Given the description of an element on the screen output the (x, y) to click on. 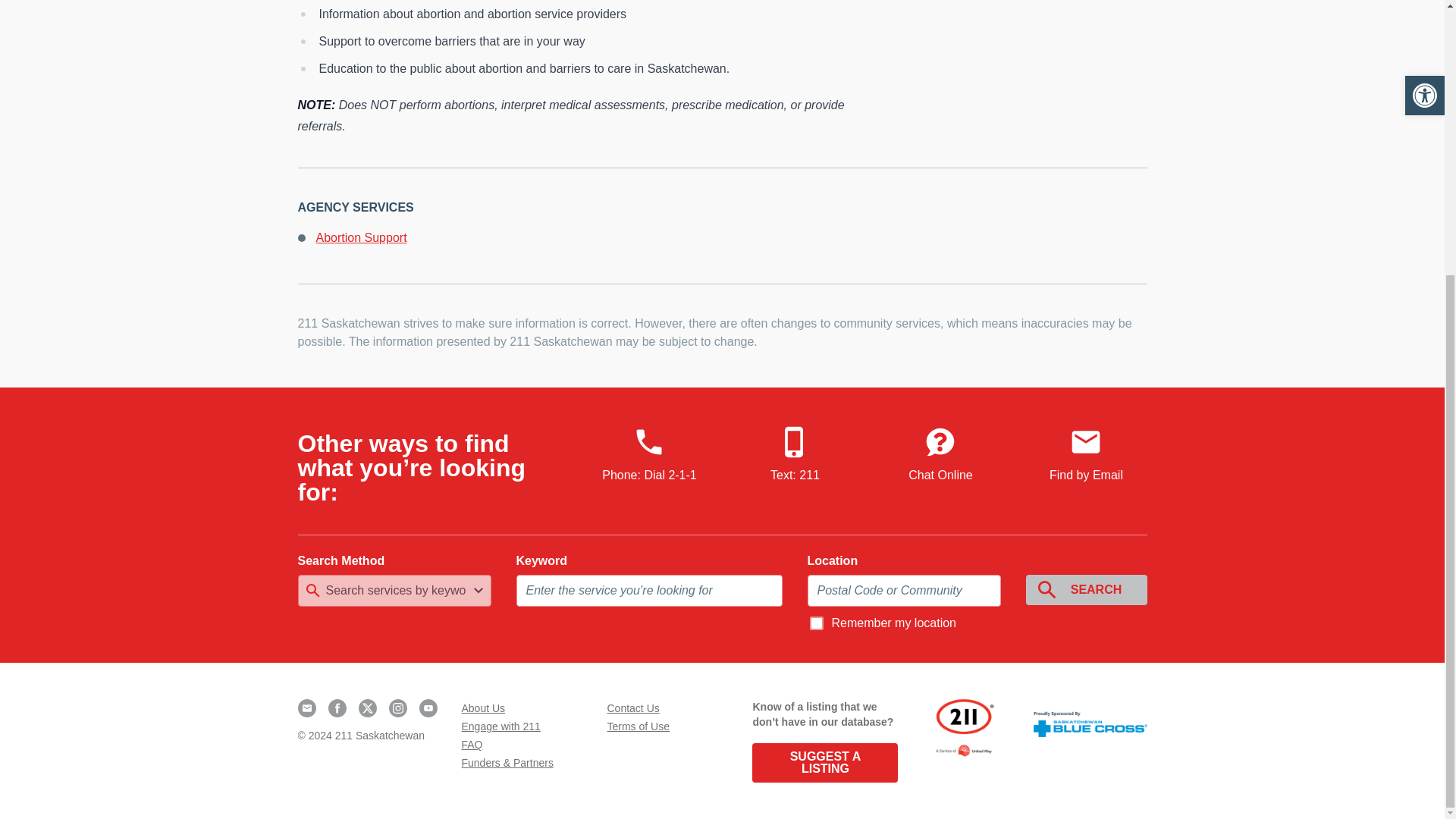
About Us (483, 707)
Text: 211 (794, 454)
Phone: Dial 2-1-1 (649, 454)
Chat Online (940, 454)
SEARCH (1086, 589)
Find by Email (1086, 454)
yes (816, 622)
Abortion Support (360, 237)
